Given the description of an element on the screen output the (x, y) to click on. 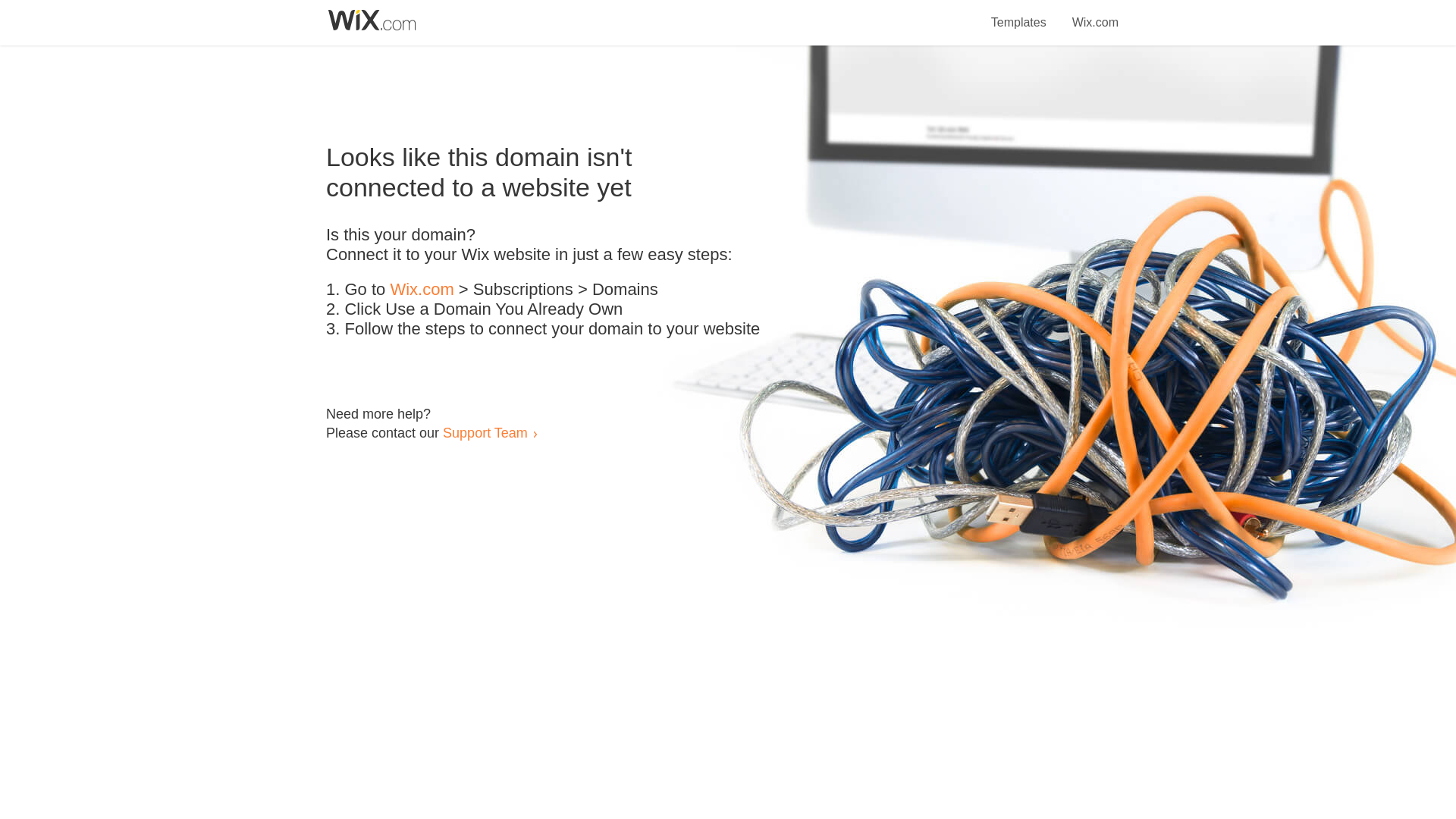
Templates (1018, 14)
Wix.com (421, 289)
Support Team (484, 432)
Wix.com (1095, 14)
